Given the description of an element on the screen output the (x, y) to click on. 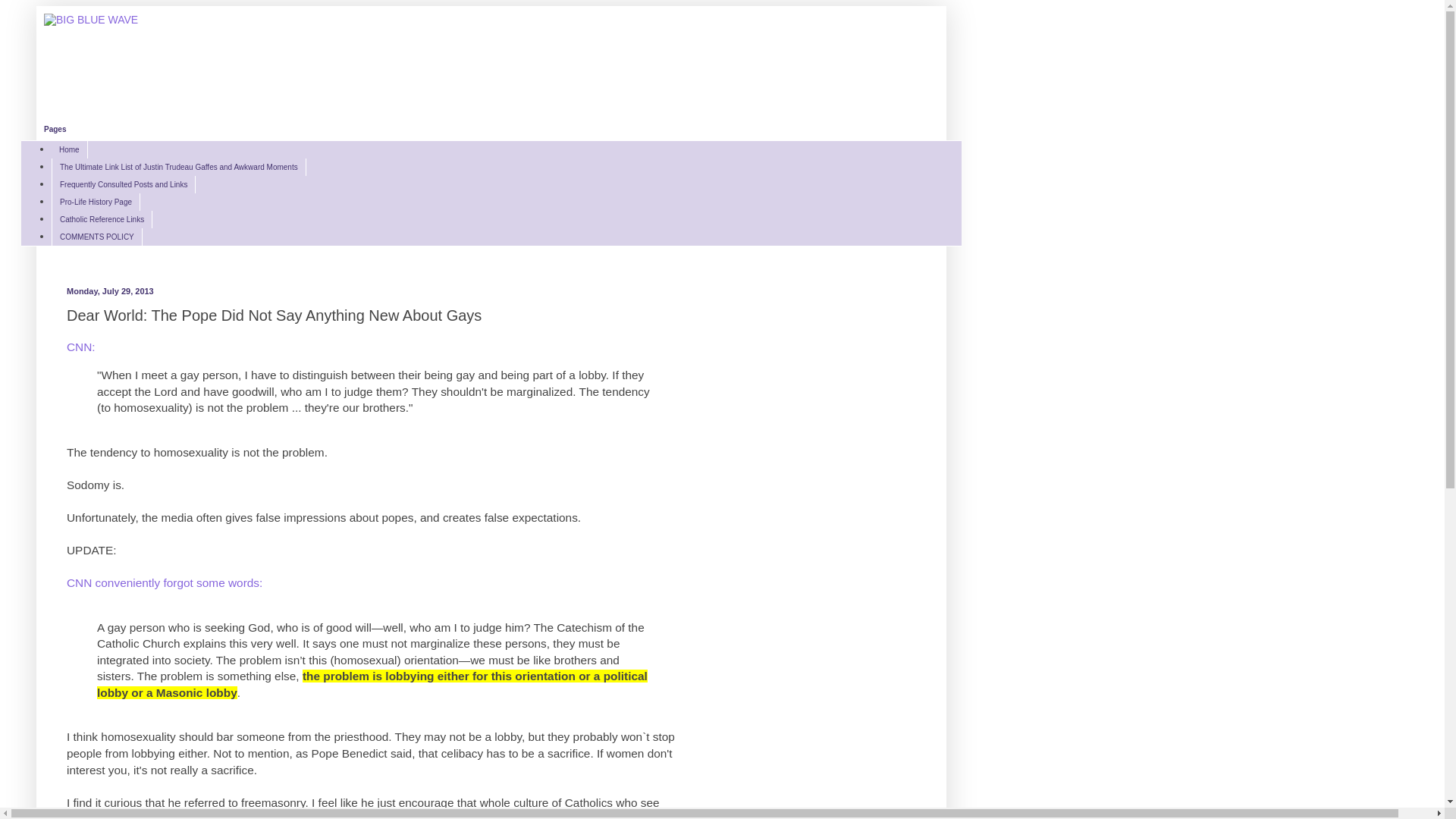
Home (68, 149)
Frequently Consulted Posts and Links (122, 184)
CNN conveniently forgot some words: (164, 582)
COMMENTS POLICY (96, 236)
Catholic Reference Links (101, 219)
CNN: (81, 346)
Pro-Life History Page (94, 201)
